Given the description of an element on the screen output the (x, y) to click on. 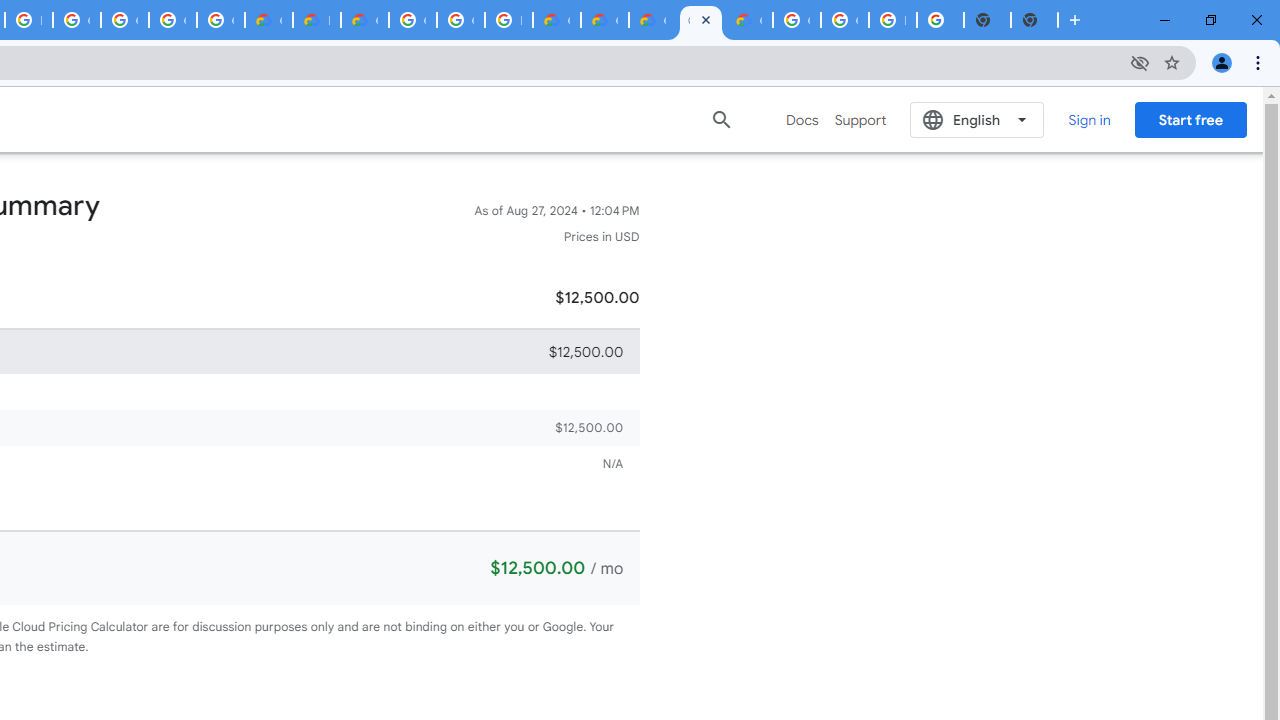
Support (860, 119)
Google Cloud Estimate Summary (700, 20)
Google Cloud Estimate Summary (652, 20)
Google Cloud Platform (844, 20)
Google Cloud Pricing Calculator (604, 20)
Google Cloud Platform (412, 20)
Google Cloud Service Health (748, 20)
